Given the description of an element on the screen output the (x, y) to click on. 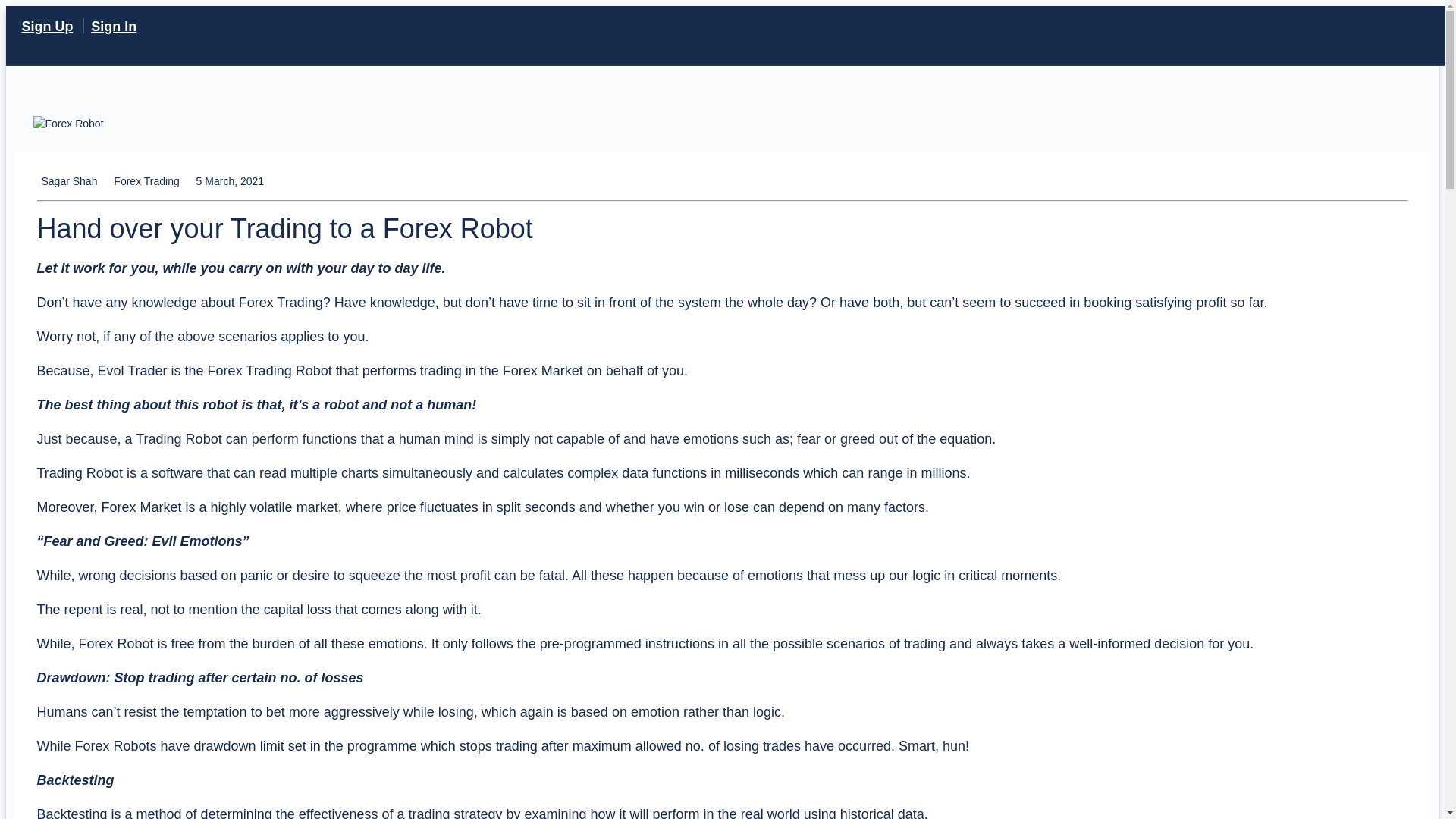
Sign Up (46, 26)
Sign In (113, 26)
